Given the description of an element on the screen output the (x, y) to click on. 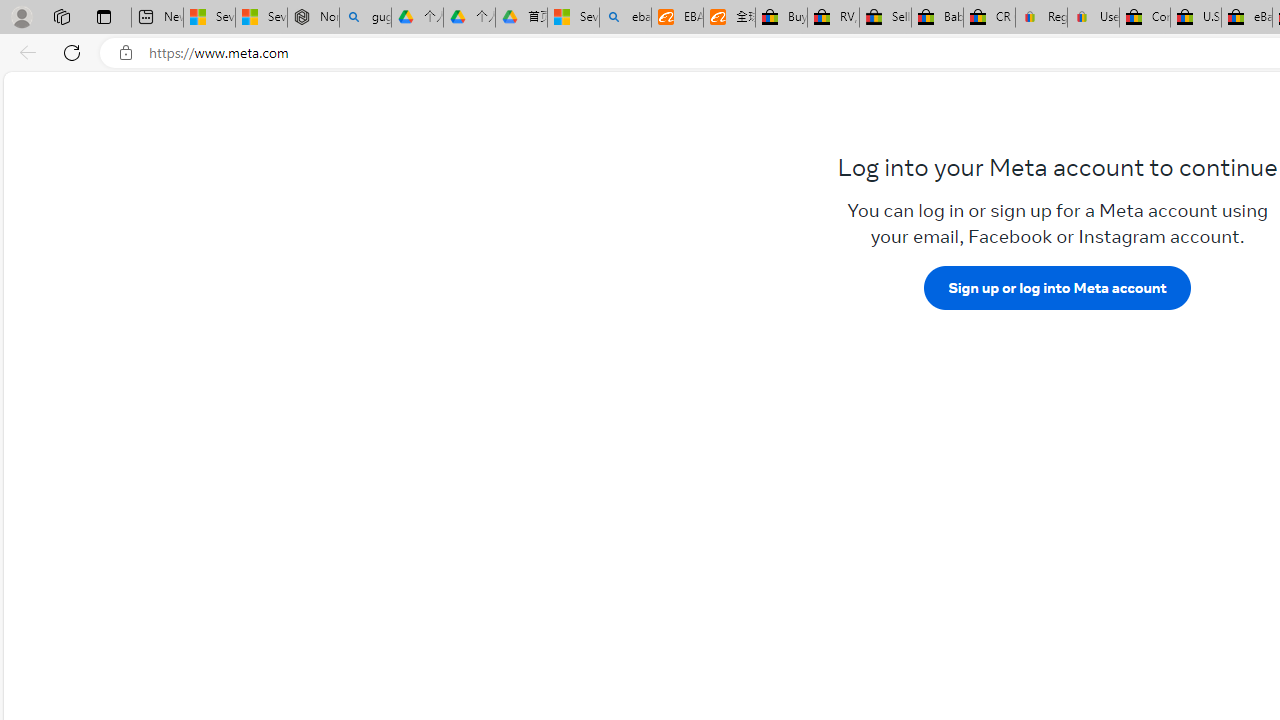
User Privacy Notice | eBay (1092, 17)
ebay - Search (625, 17)
U.S. State Privacy Disclosures - eBay Inc. (1196, 17)
RV, Trailer & Camper Steps & Ladders for sale | eBay (832, 17)
